Given the description of an element on the screen output the (x, y) to click on. 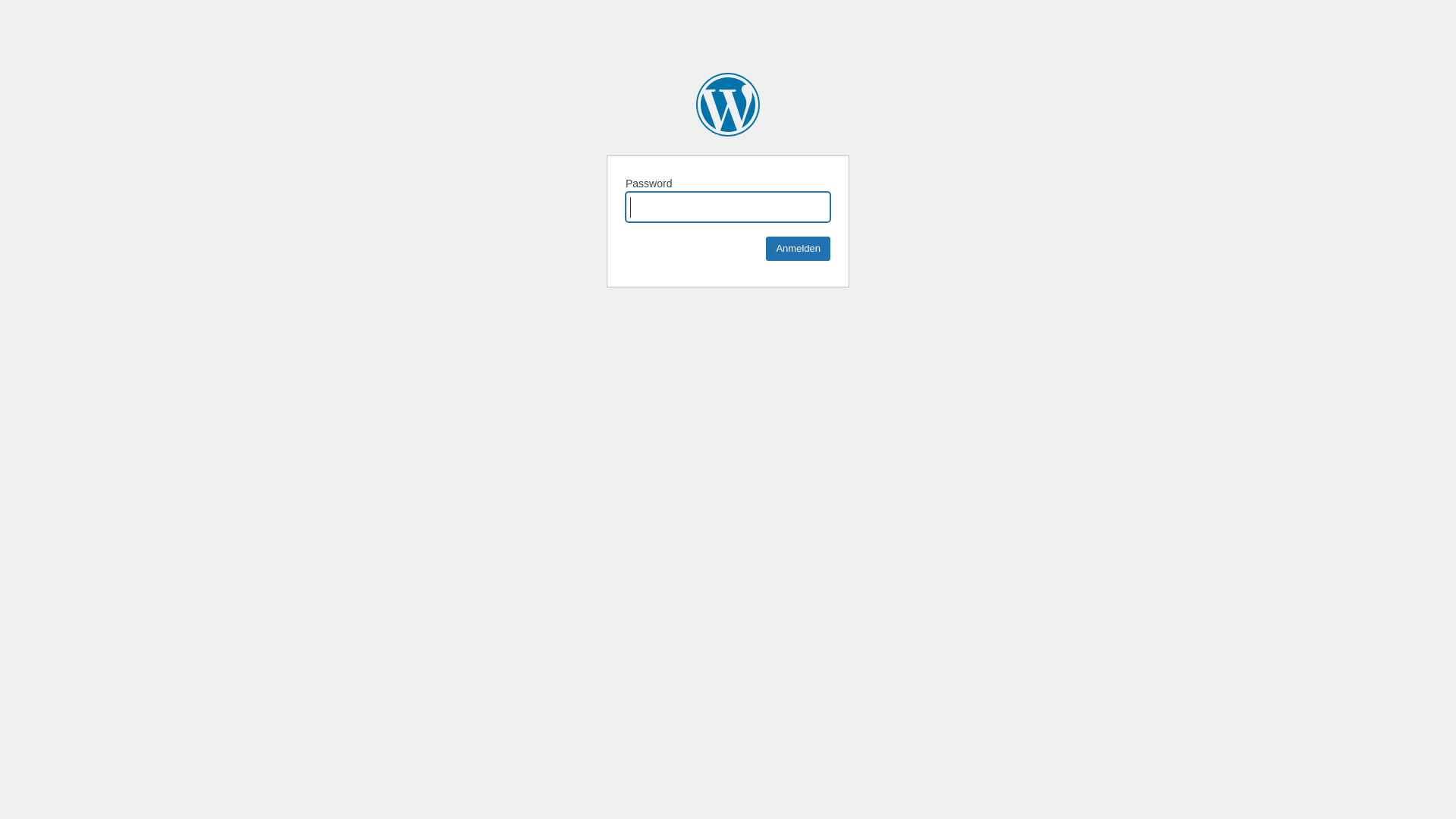
Anmelden Element type: text (797, 248)
Ana Campos Element type: text (727, 104)
